Given the description of an element on the screen output the (x, y) to click on. 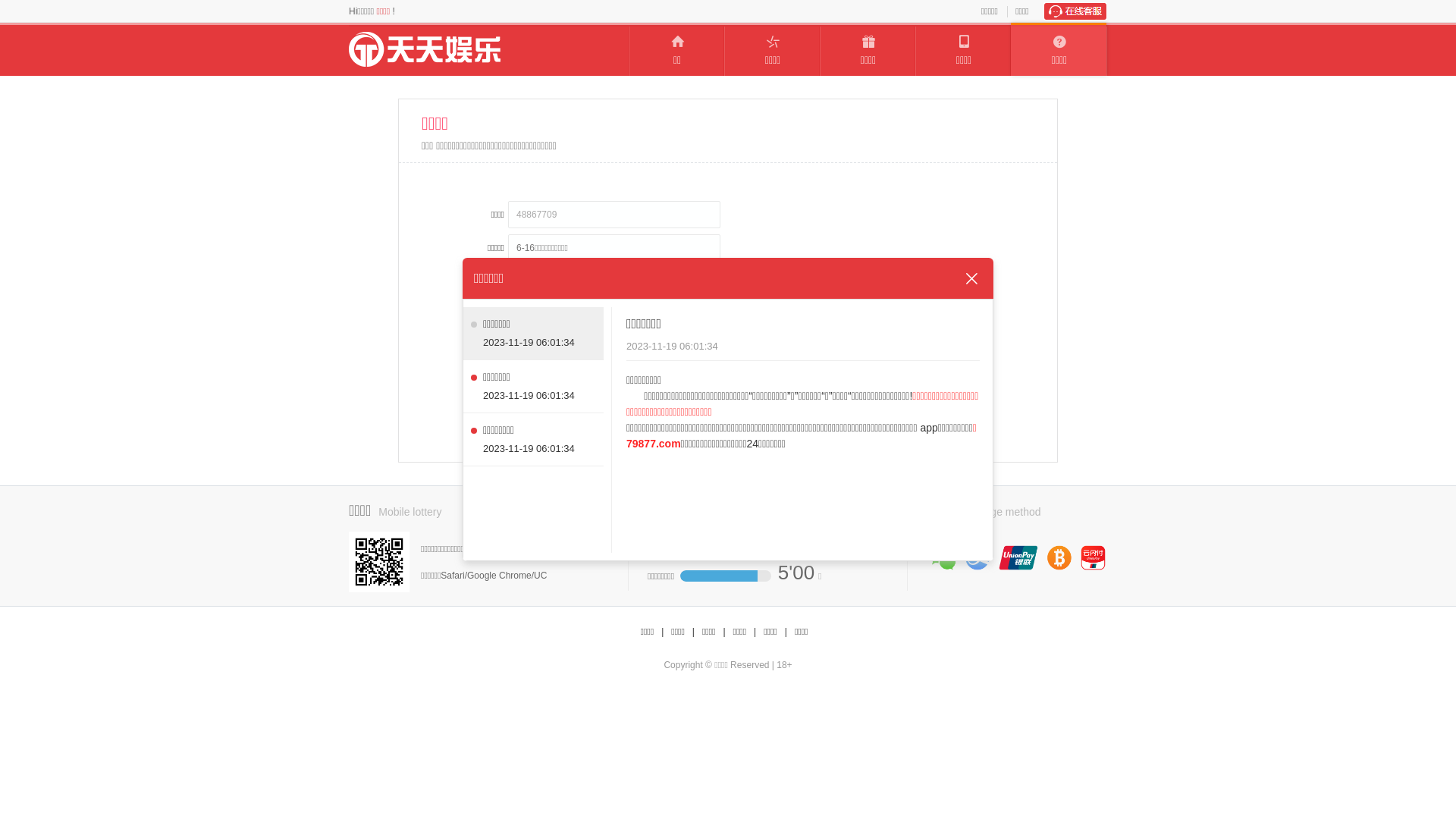
| Element type: text (662, 631)
| Element type: text (785, 631)
| Element type: text (723, 631)
| Element type: text (754, 631)
| Element type: text (693, 631)
